Given the description of an element on the screen output the (x, y) to click on. 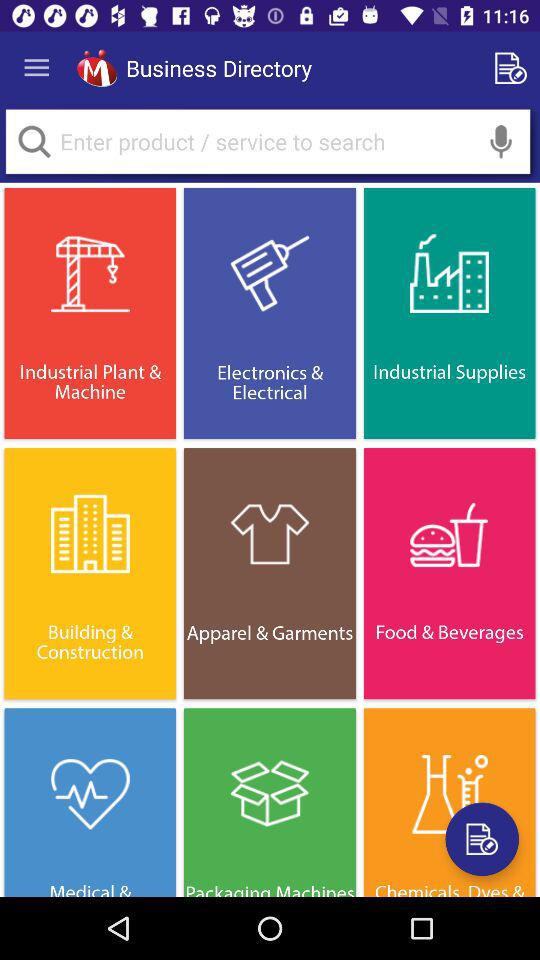
enable microphone (501, 141)
